Given the description of an element on the screen output the (x, y) to click on. 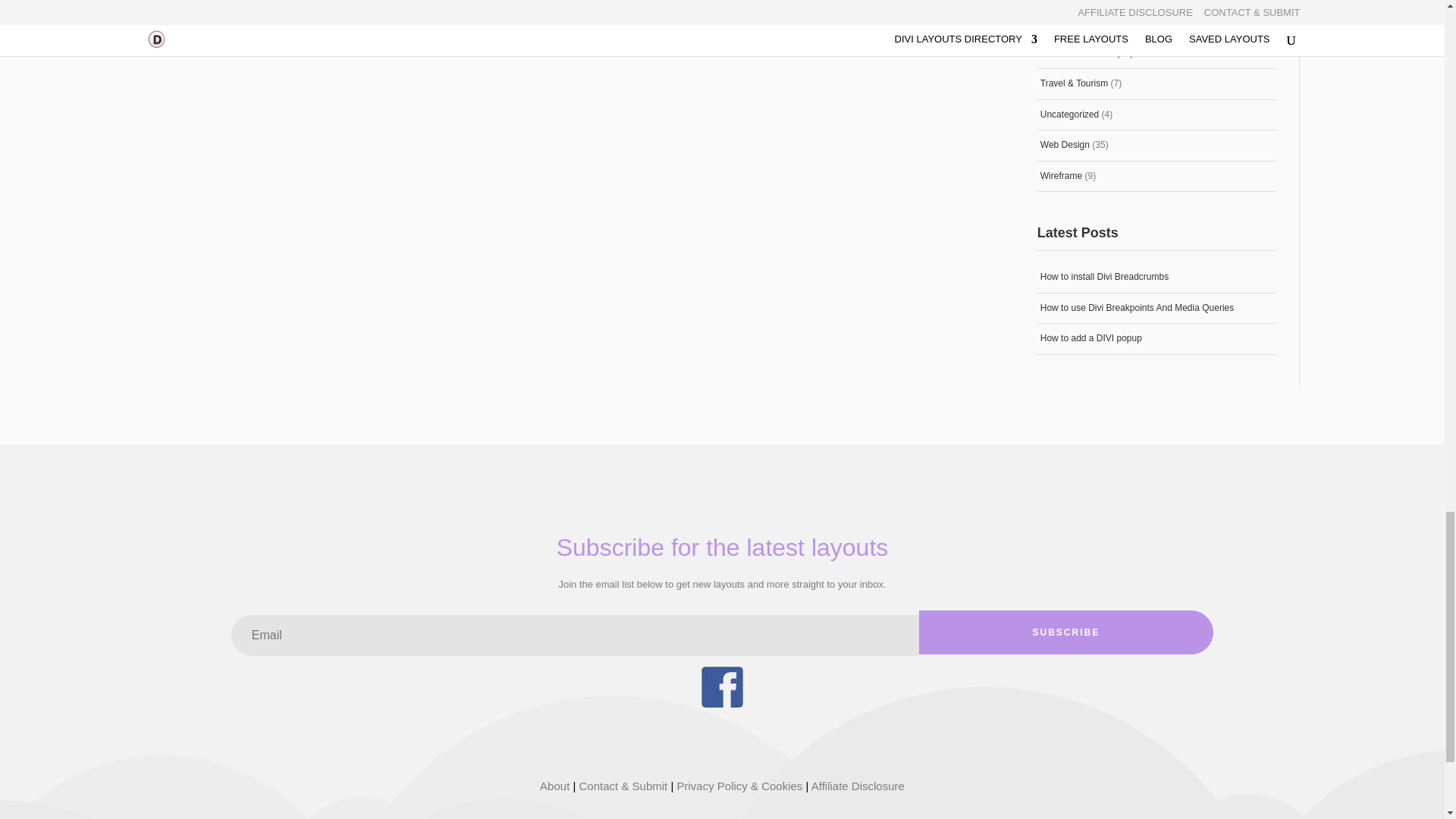
Divi Layouts Facebook group (721, 703)
